Given the description of an element on the screen output the (x, y) to click on. 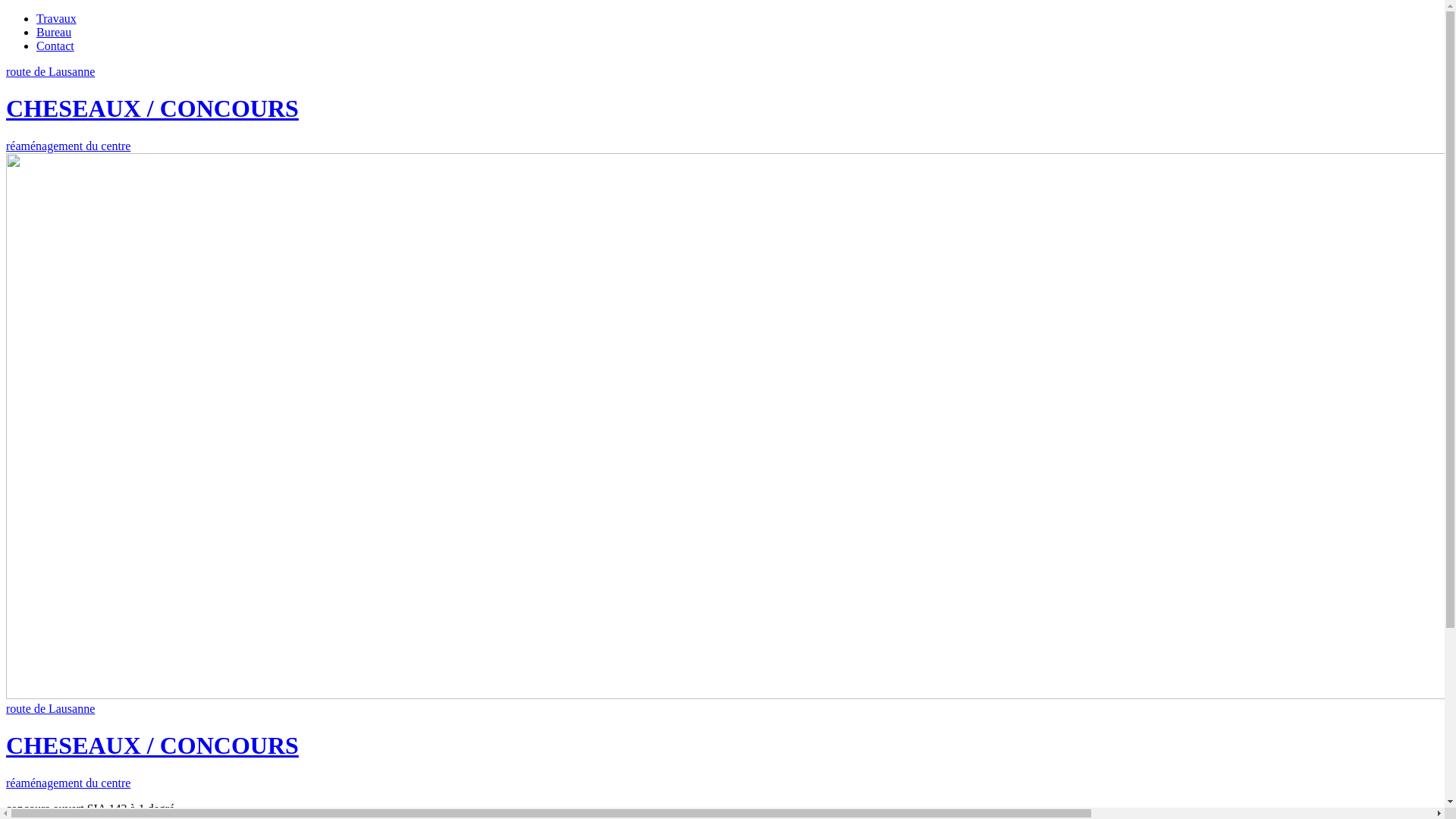
Contact Element type: text (55, 45)
Bureau Element type: text (53, 31)
Travaux Element type: text (56, 18)
